Given the description of an element on the screen output the (x, y) to click on. 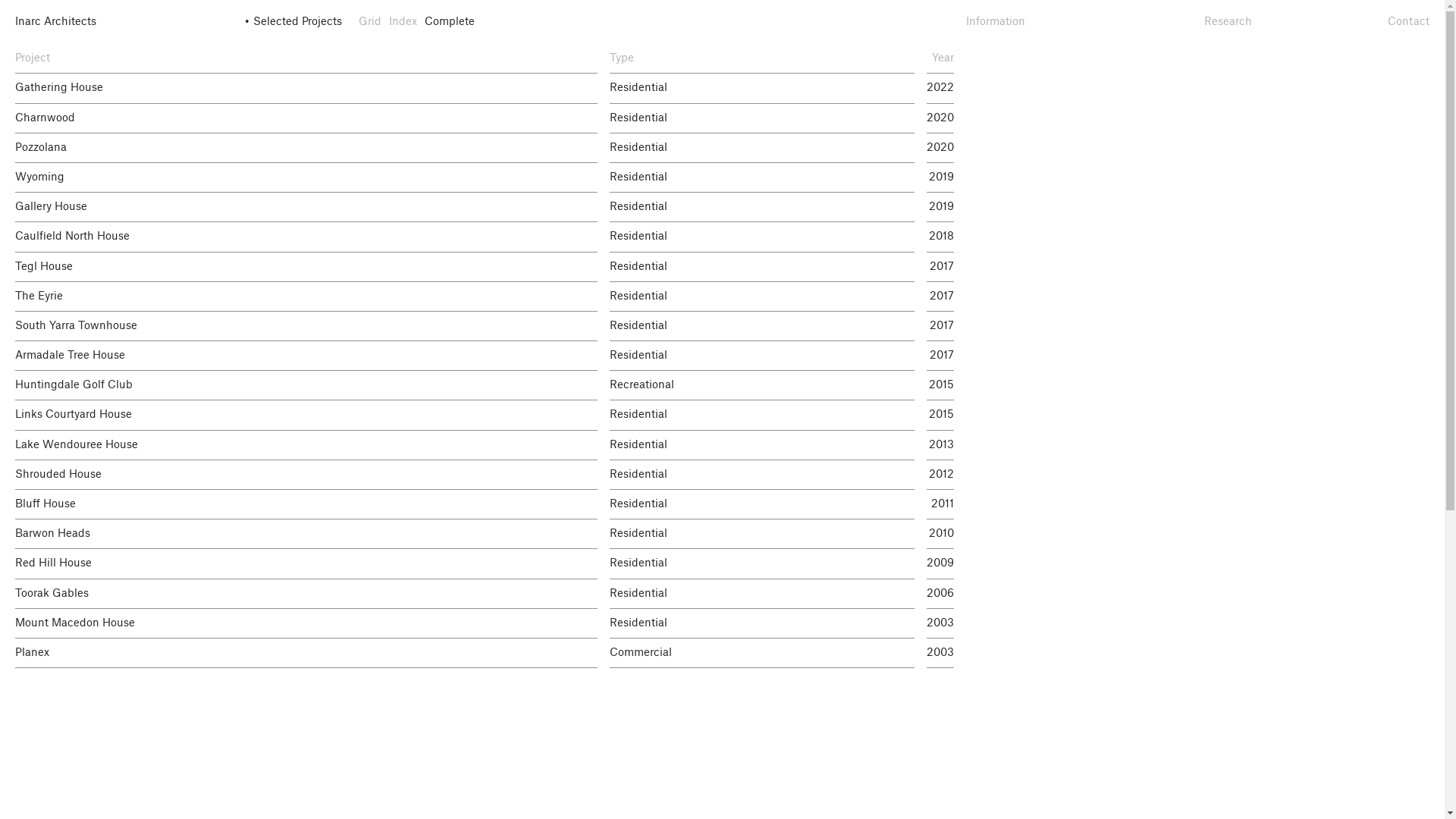
Charnwood
Residential
2020 Element type: text (722, 118)
Caulfield North House
Residential
2018 Element type: text (722, 236)
Pozzolana
Residential
2020 Element type: text (722, 148)
Toorak Gables
Residential
2006 Element type: text (722, 593)
Contact Element type: text (1408, 21)
Gallery House
Residential
2019 Element type: text (722, 207)
Gathering House
Residential
2022 Element type: text (722, 87)
Links Courtyard House
Residential
2015 Element type: text (722, 414)
Wyoming
Residential
2019 Element type: text (722, 177)
Selected Projects Element type: text (297, 21)
Lake Wendouree House
Residential
2013 Element type: text (722, 445)
Armadale Tree House
Residential
2017 Element type: text (722, 355)
Mount Macedon House
Residential
2003 Element type: text (722, 623)
Barwon Heads
Residential
2010 Element type: text (722, 534)
Red Hill House
Residential
2009 Element type: text (722, 563)
South Yarra Townhouse
Residential
2017 Element type: text (722, 326)
Research Element type: text (1228, 21)
Bluff House
Residential
2011 Element type: text (722, 504)
Inarc Architects Element type: text (128, 21)
Complete Element type: text (449, 21)
Huntingdale Golf Club
Recreational
2015 Element type: text (722, 385)
The Eyrie
Residential
2017 Element type: text (722, 296)
Grid Element type: text (368, 21)
Planex
Commercial
2003 Element type: text (722, 653)
Information Element type: text (995, 21)
Index Element type: text (402, 21)
Tegl House
Residential
2017 Element type: text (722, 266)
Shrouded House
Residential
2012 Element type: text (722, 474)
